Given the description of an element on the screen output the (x, y) to click on. 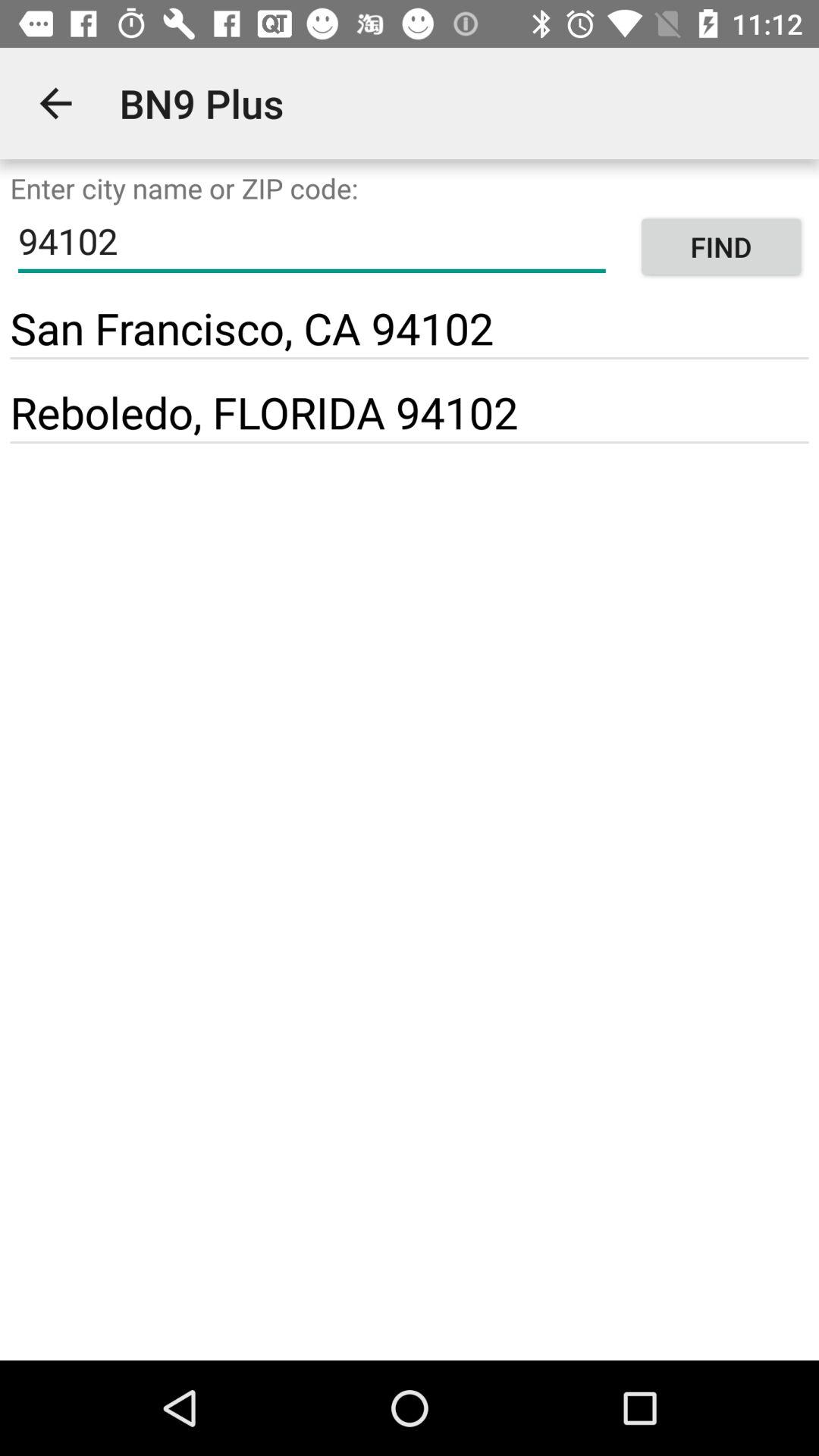
select the find icon (720, 246)
